Given the description of an element on the screen output the (x, y) to click on. 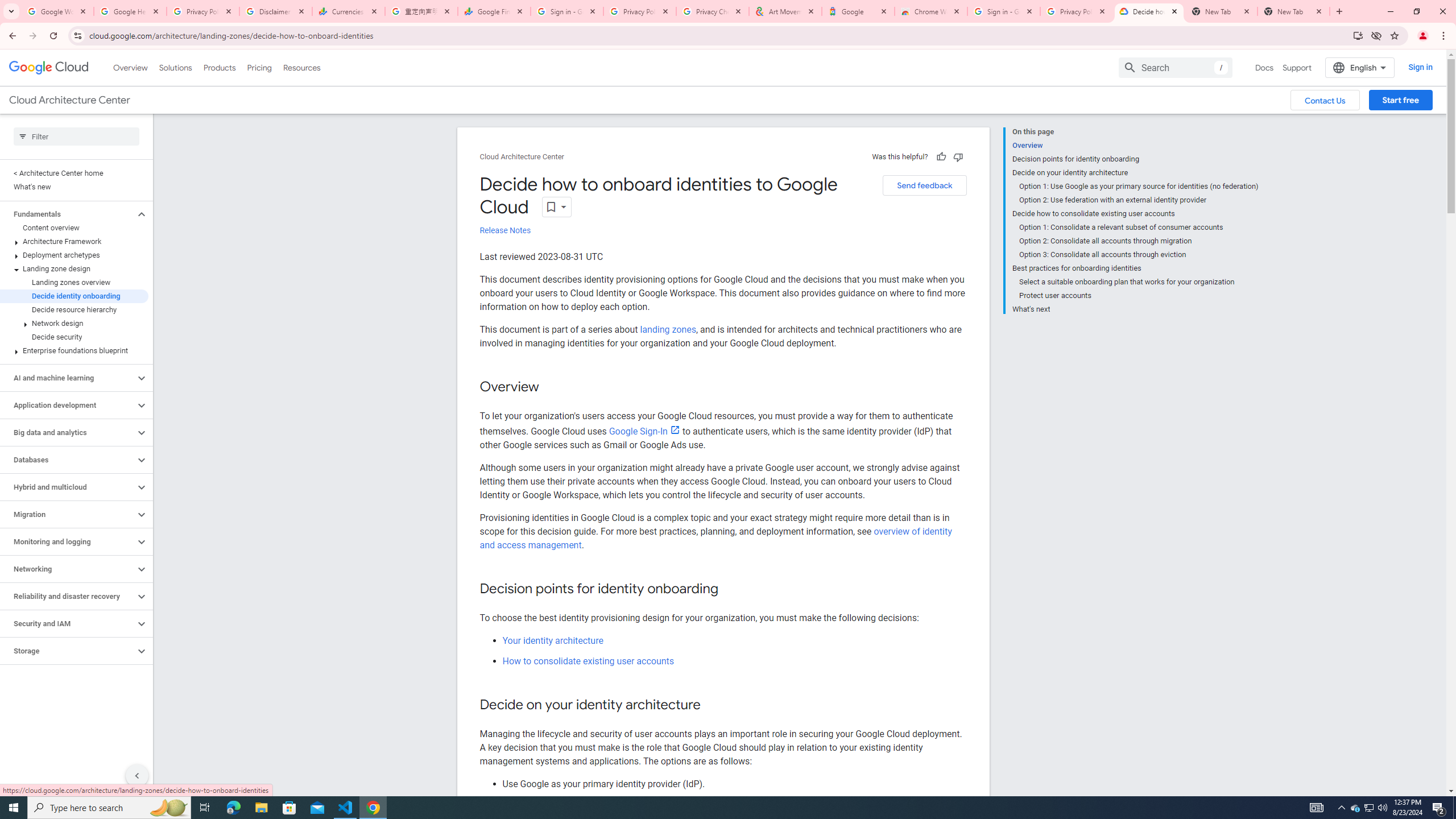
Hybrid and multicloud (67, 486)
Support (1296, 67)
Send feedback (924, 185)
Architecture Framework (74, 241)
Databases (67, 459)
Your identity architecture (552, 640)
New Tab (1293, 11)
Google Sign-In (643, 430)
Pricing (259, 67)
Decide security (74, 336)
What's next (1134, 307)
